Given the description of an element on the screen output the (x, y) to click on. 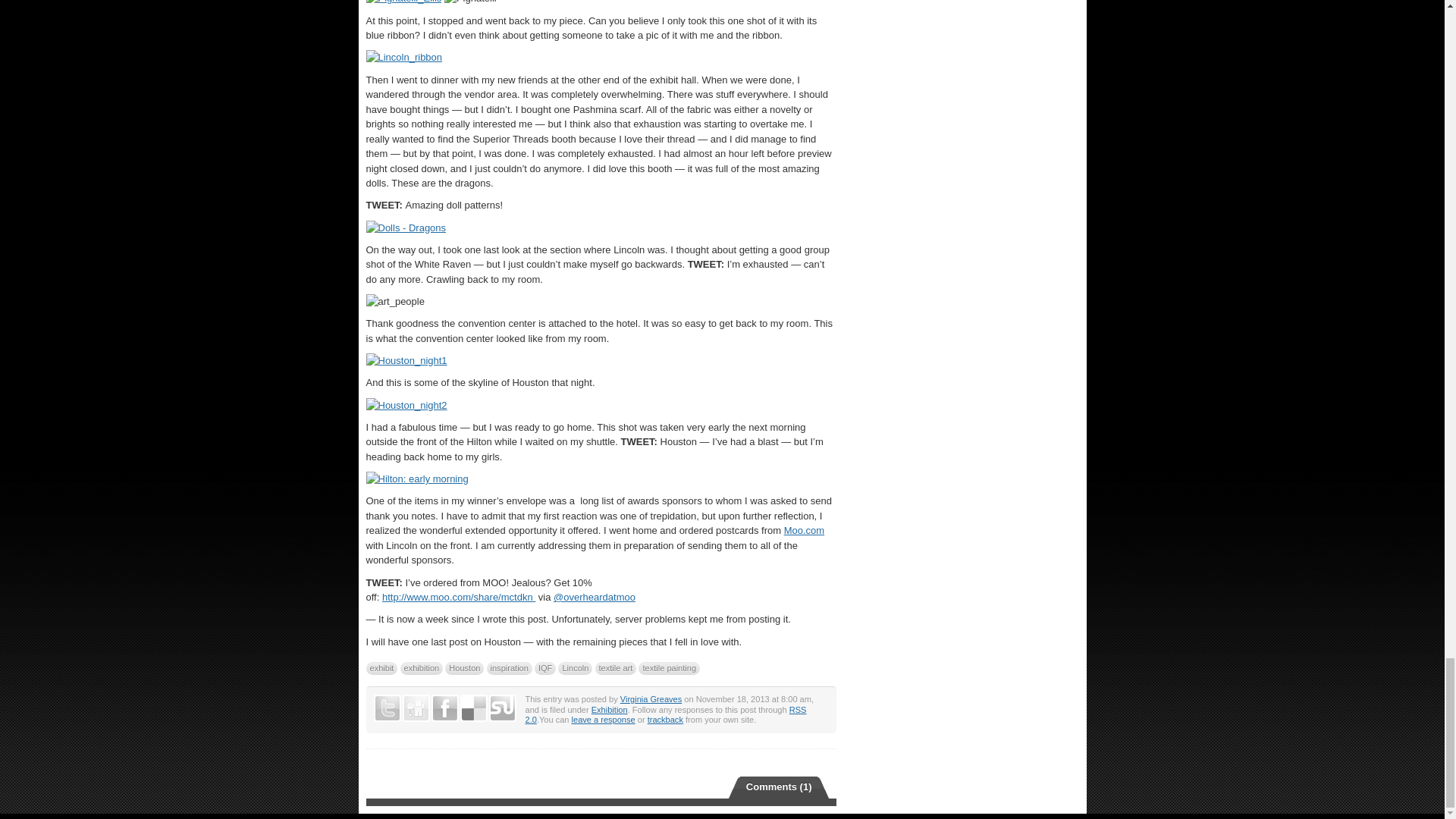
Share this post on Twitter (386, 708)
Share this post on Digg (415, 708)
